Given the description of an element on the screen output the (x, y) to click on. 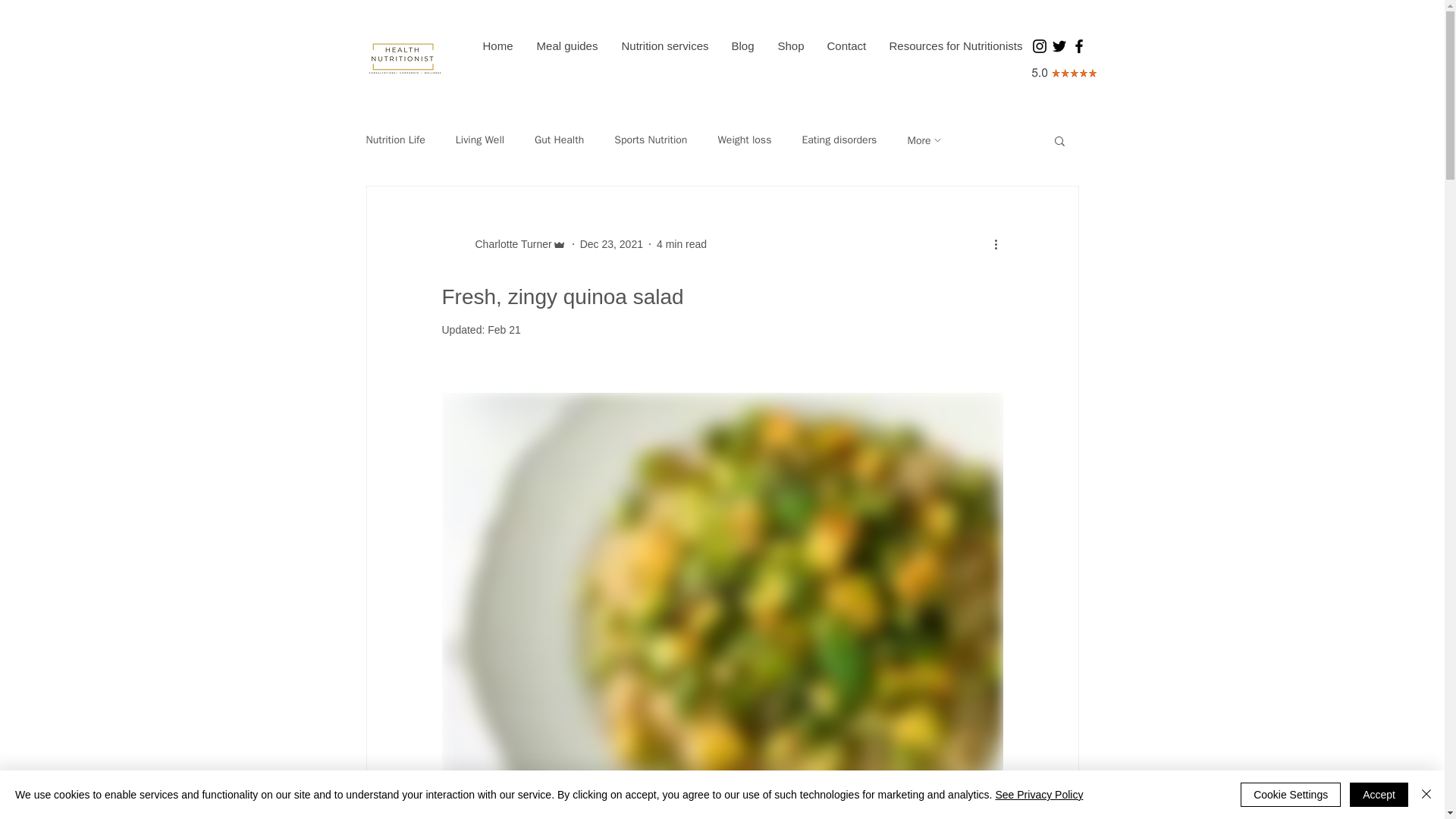
Eating disorders (839, 140)
Dec 23, 2021 (611, 244)
Weight loss (744, 140)
Home (497, 45)
Living Well (479, 140)
Gut Health (558, 140)
Shop (790, 45)
Sports Nutrition (650, 140)
Feb 21 (504, 329)
Blog (742, 45)
